Given the description of an element on the screen output the (x, y) to click on. 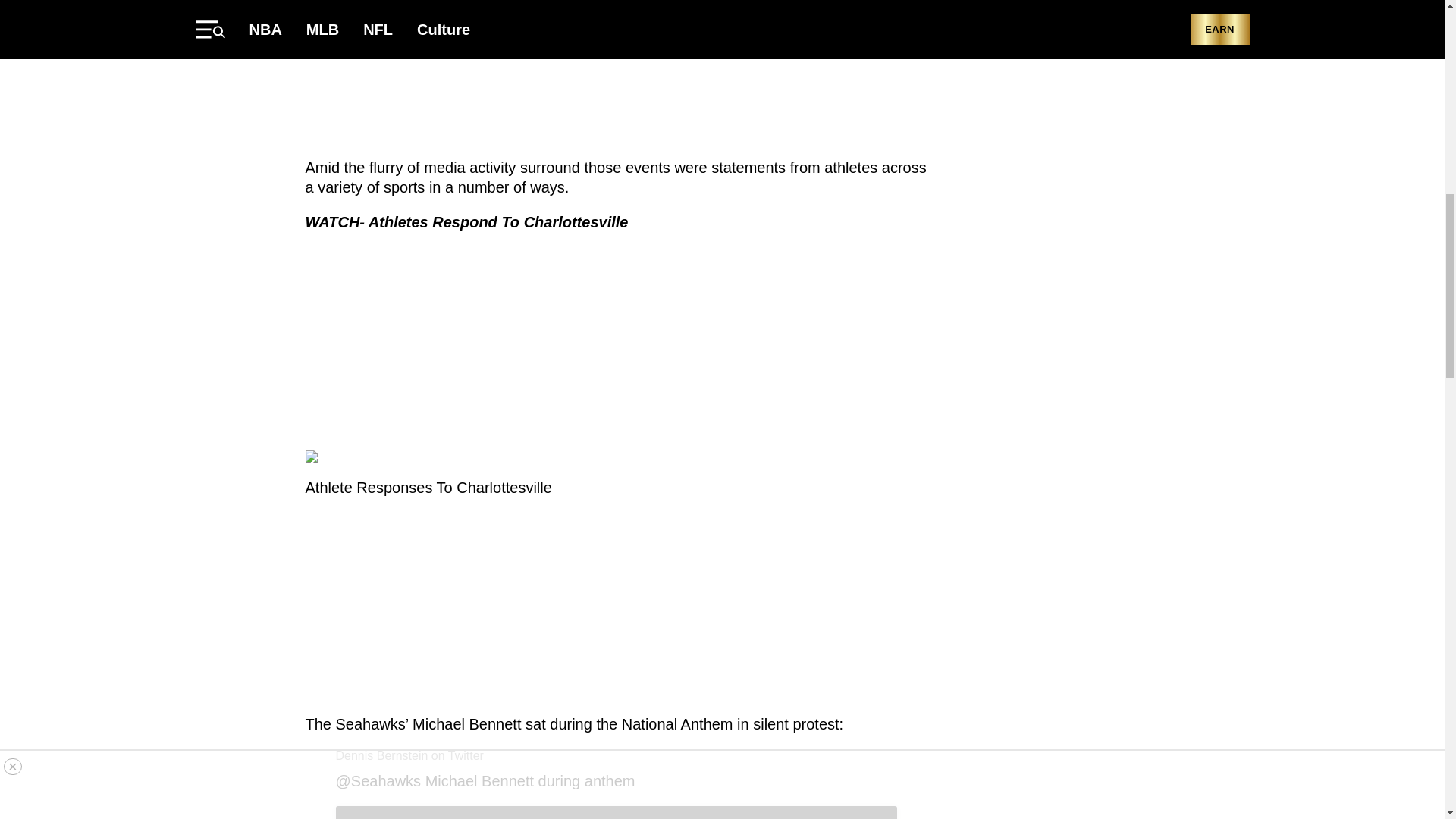
Dennis Bernstein on Twitter (408, 755)
